Given the description of an element on the screen output the (x, y) to click on. 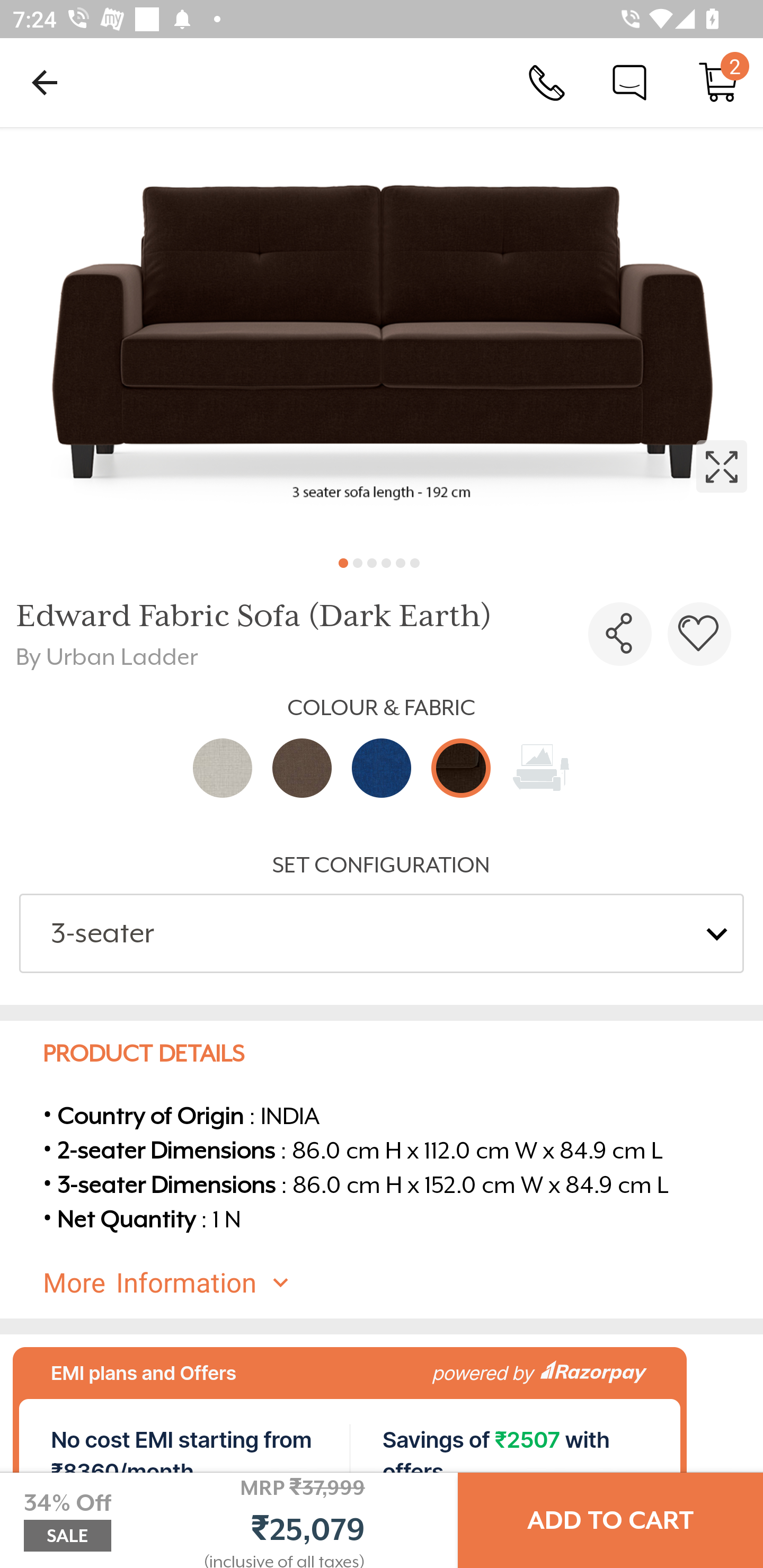
Navigate up (44, 82)
Call Us (546, 81)
Chat (629, 81)
Cart (718, 81)
 (381, 334)
 (619, 634)
 (698, 634)
SET CONFIGURATION 3-seater  (381, 912)
More Information  (396, 1282)
ADD TO CART (610, 1520)
